Given the description of an element on the screen output the (x, y) to click on. 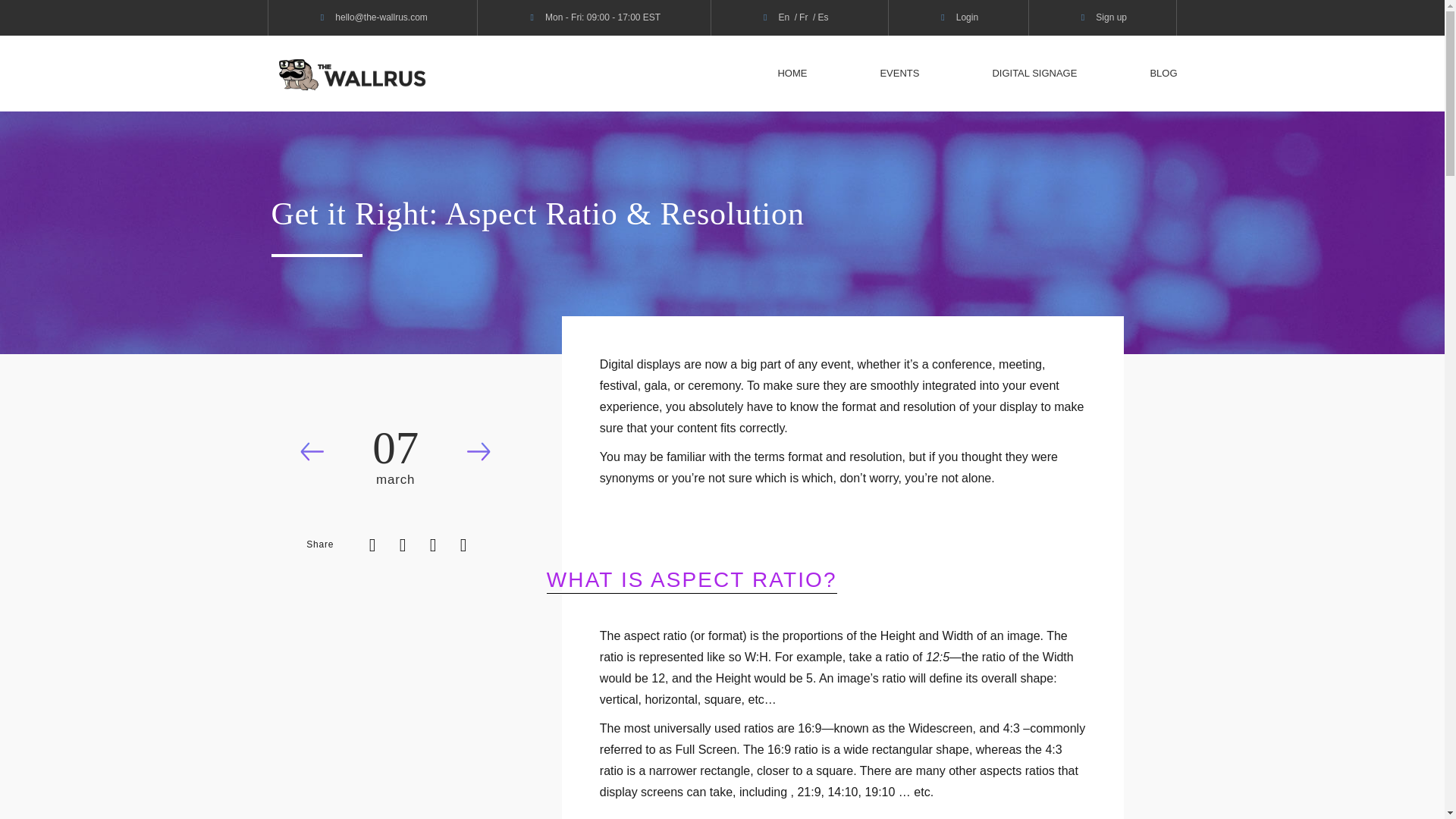
Sign up (1111, 17)
Es (822, 16)
Login (967, 17)
DIGITAL SIGNAGE (1034, 73)
En (783, 16)
